Given the description of an element on the screen output the (x, y) to click on. 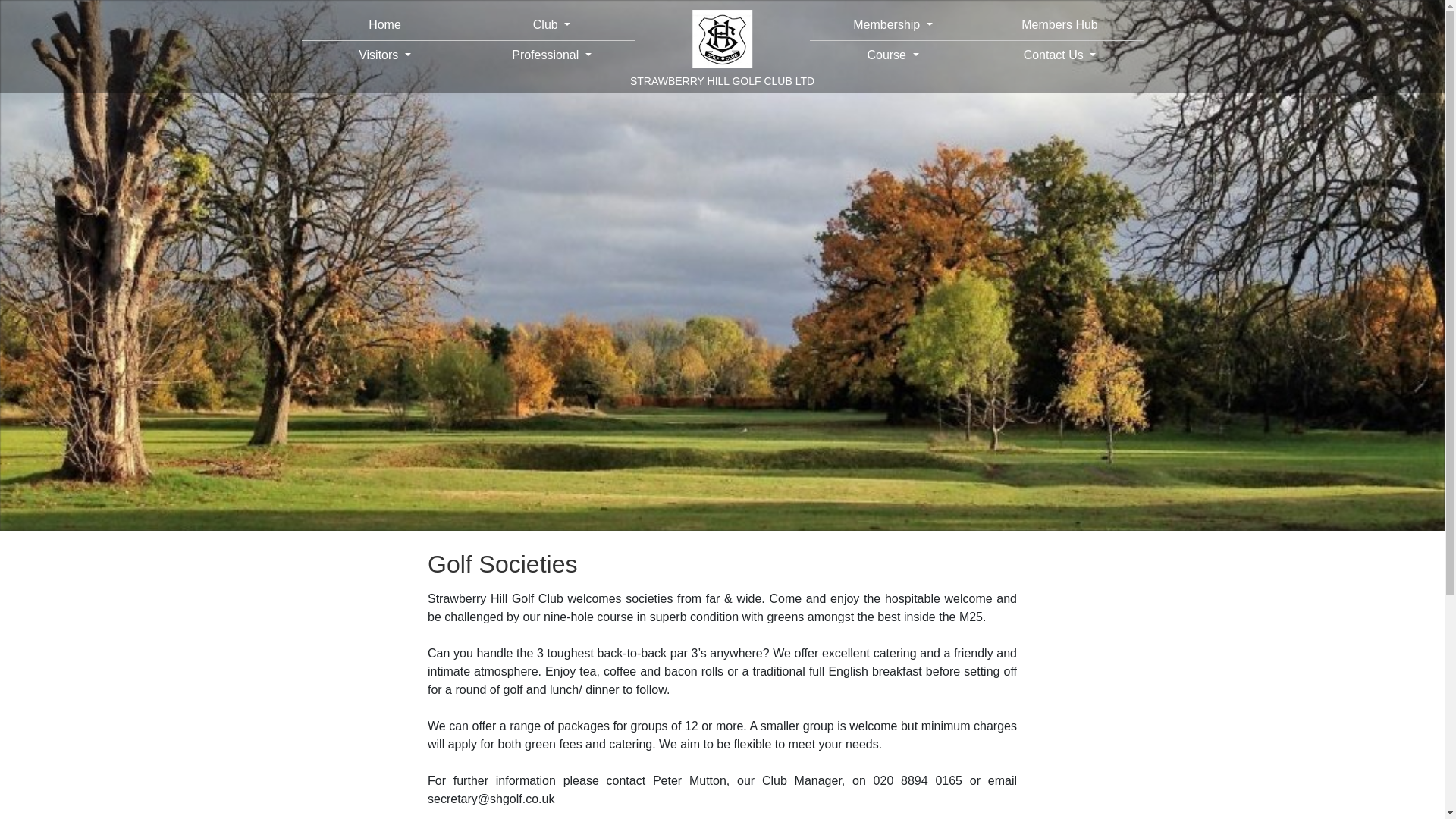
Contact Us (1059, 55)
Members Hub (1059, 24)
Home (384, 24)
Professional (551, 55)
Course (892, 55)
Club (551, 24)
Visitors (384, 55)
Membership (892, 24)
